Given the description of an element on the screen output the (x, y) to click on. 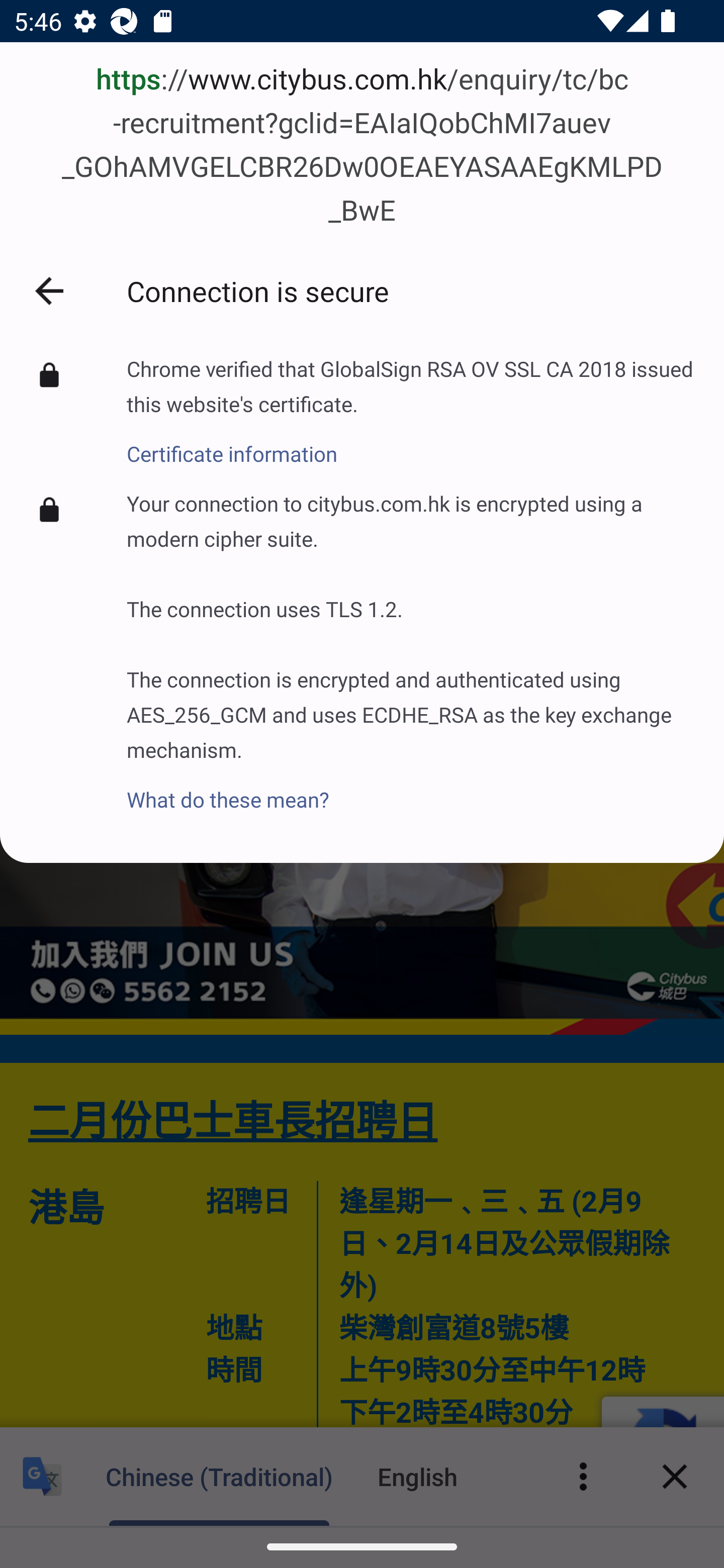
Back (49, 290)
Certificate information (410, 442)
What do these mean? (410, 788)
